Given the description of an element on the screen output the (x, y) to click on. 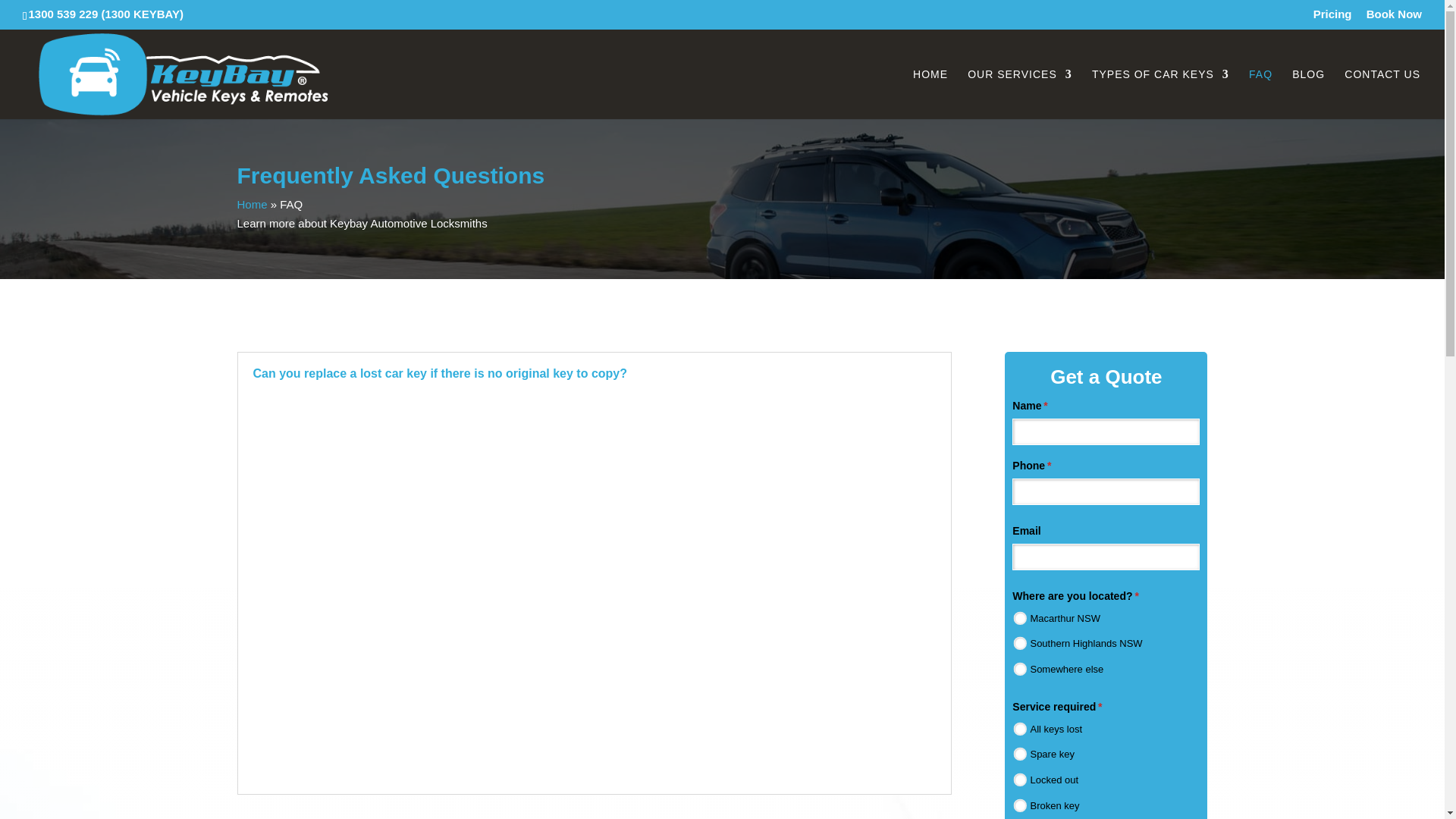
FAQ (1260, 92)
HOME (929, 92)
OUR SERVICES (1019, 92)
CONTACT US (1382, 92)
TYPES OF CAR KEYS (1160, 92)
BLOG (1308, 92)
Book Now (1394, 17)
Pricing (1332, 17)
